Given the description of an element on the screen output the (x, y) to click on. 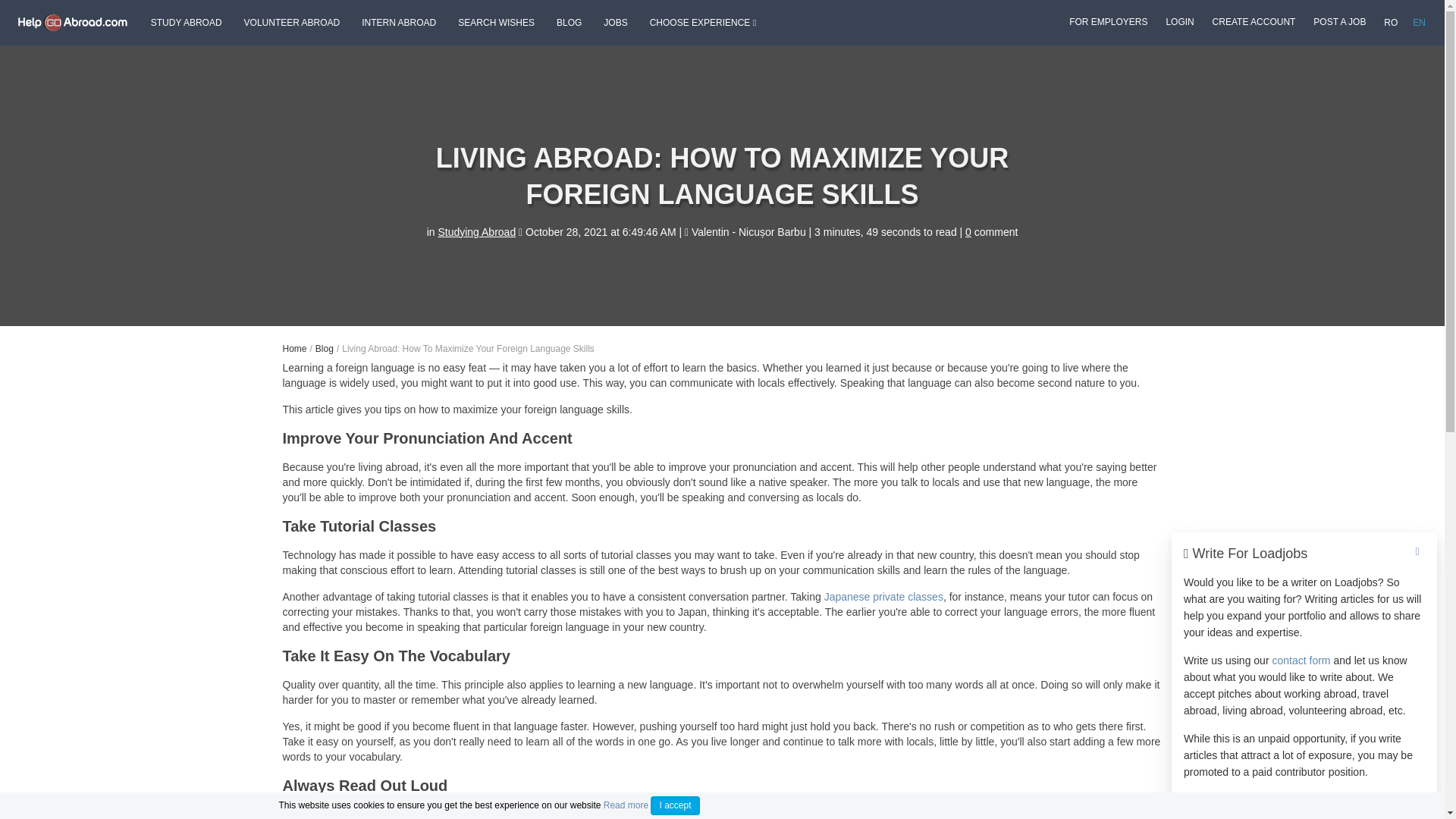
LOGIN (1179, 21)
CHOOSE EXPERIENCE (703, 22)
FOR EMPLOYERS (1107, 21)
INTERN ABROAD (398, 22)
SEARCH WISHES (496, 22)
POST A JOB (1339, 21)
EN (1418, 22)
BLOG (568, 22)
VOLUNTEER ABROAD (292, 22)
RO (1390, 22)
